Given the description of an element on the screen output the (x, y) to click on. 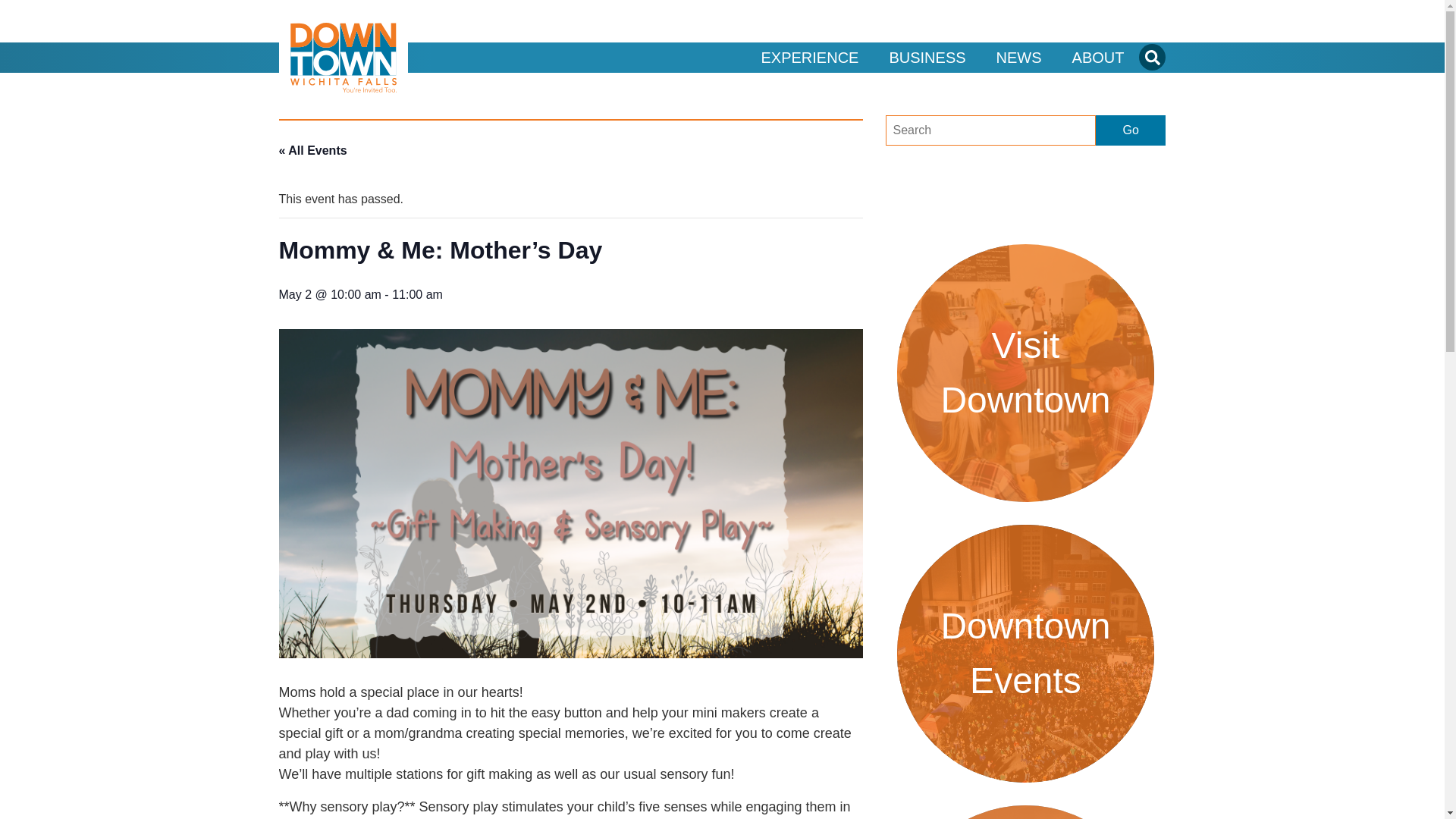
ABOUT (1098, 57)
BUSINESS (926, 57)
Go (881, 203)
EXPERIENCE (809, 57)
Downtown Wichita Falls Development (342, 57)
NEWS (1019, 57)
Go (1131, 130)
